Given the description of an element on the screen output the (x, y) to click on. 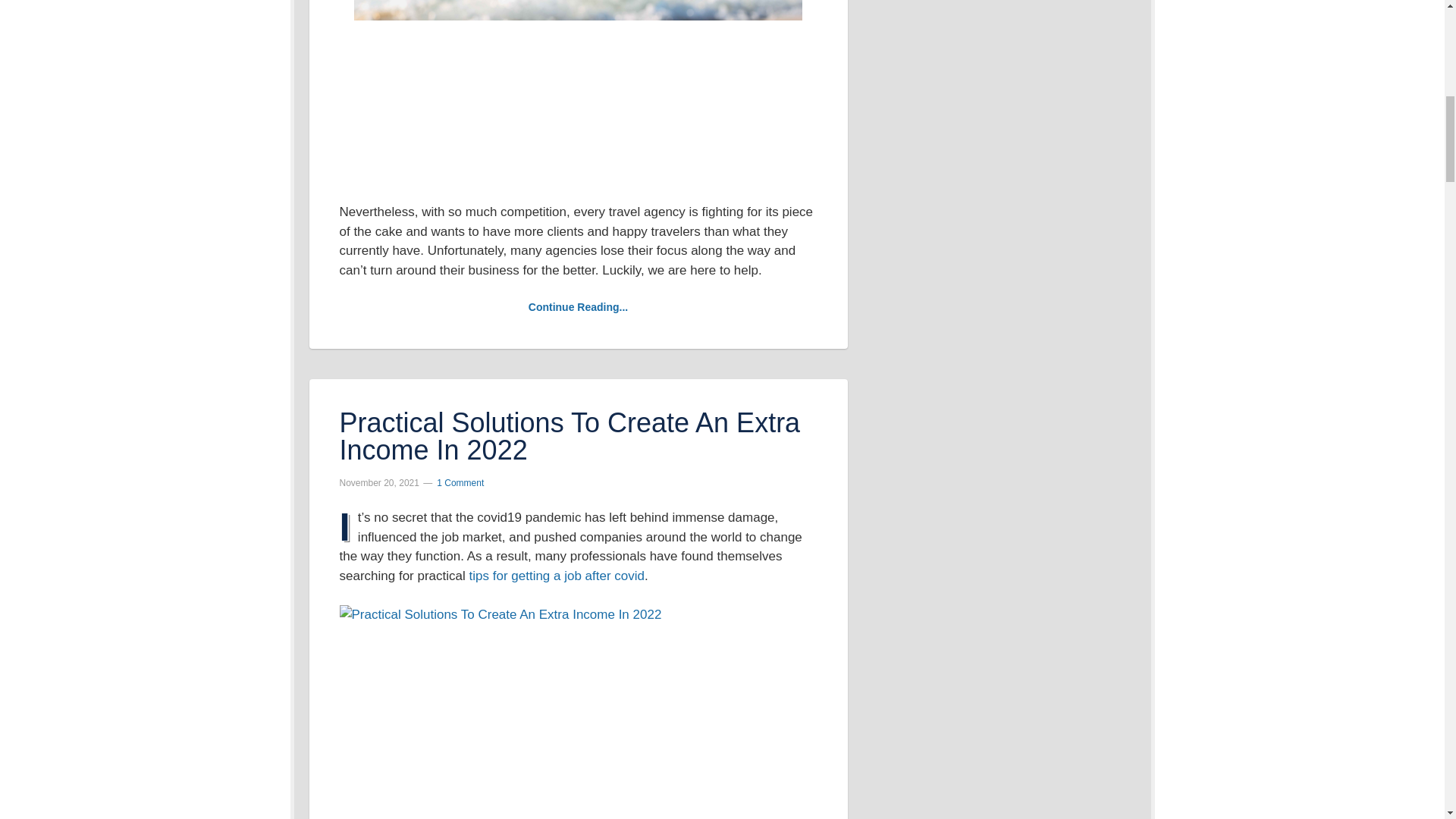
tips for getting a job after covid (556, 575)
Continue Reading... (577, 306)
Practical Solutions To Create An Extra Income In 2022 (569, 436)
1 Comment (459, 482)
